Given the description of an element on the screen output the (x, y) to click on. 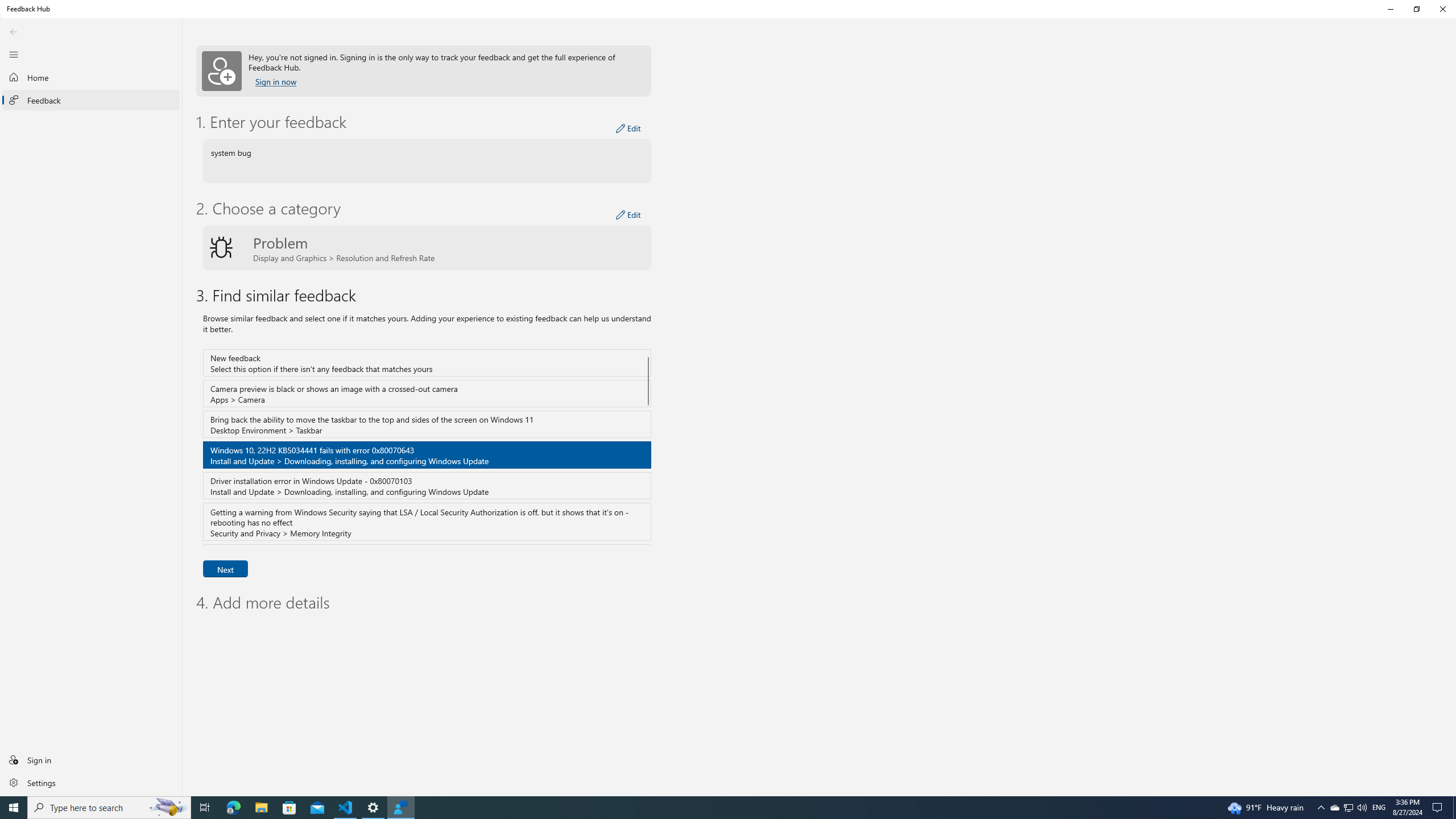
Minimize Feedback Hub (1390, 9)
Sign in now (276, 81)
Feedback Hub - 1 running window (400, 807)
Sign in (90, 759)
Next (224, 568)
Edit your feedback details (627, 128)
Close Navigation (13, 54)
